Given the description of an element on the screen output the (x, y) to click on. 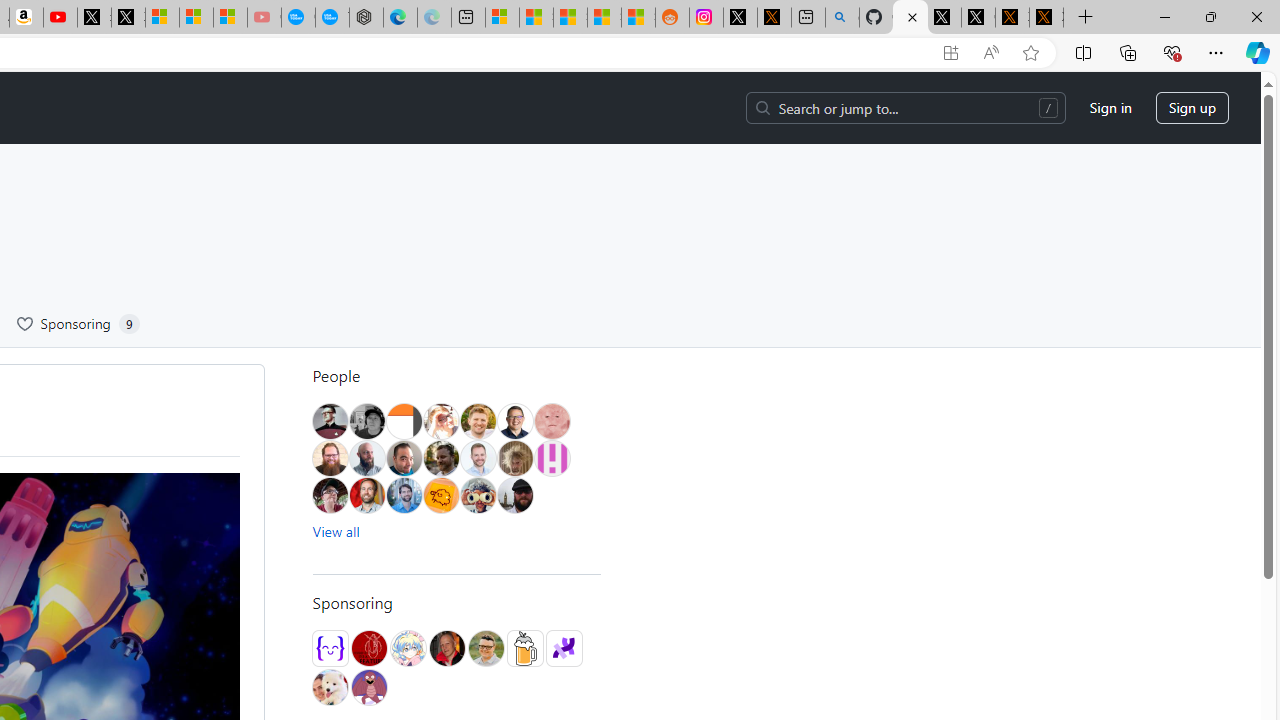
@knsv (446, 648)
Profile / X (944, 17)
@matthewd (404, 421)
@kjg (477, 421)
@processing (564, 648)
@look (404, 495)
@zerowidth (367, 457)
@abraham (330, 457)
